Given the description of an element on the screen output the (x, y) to click on. 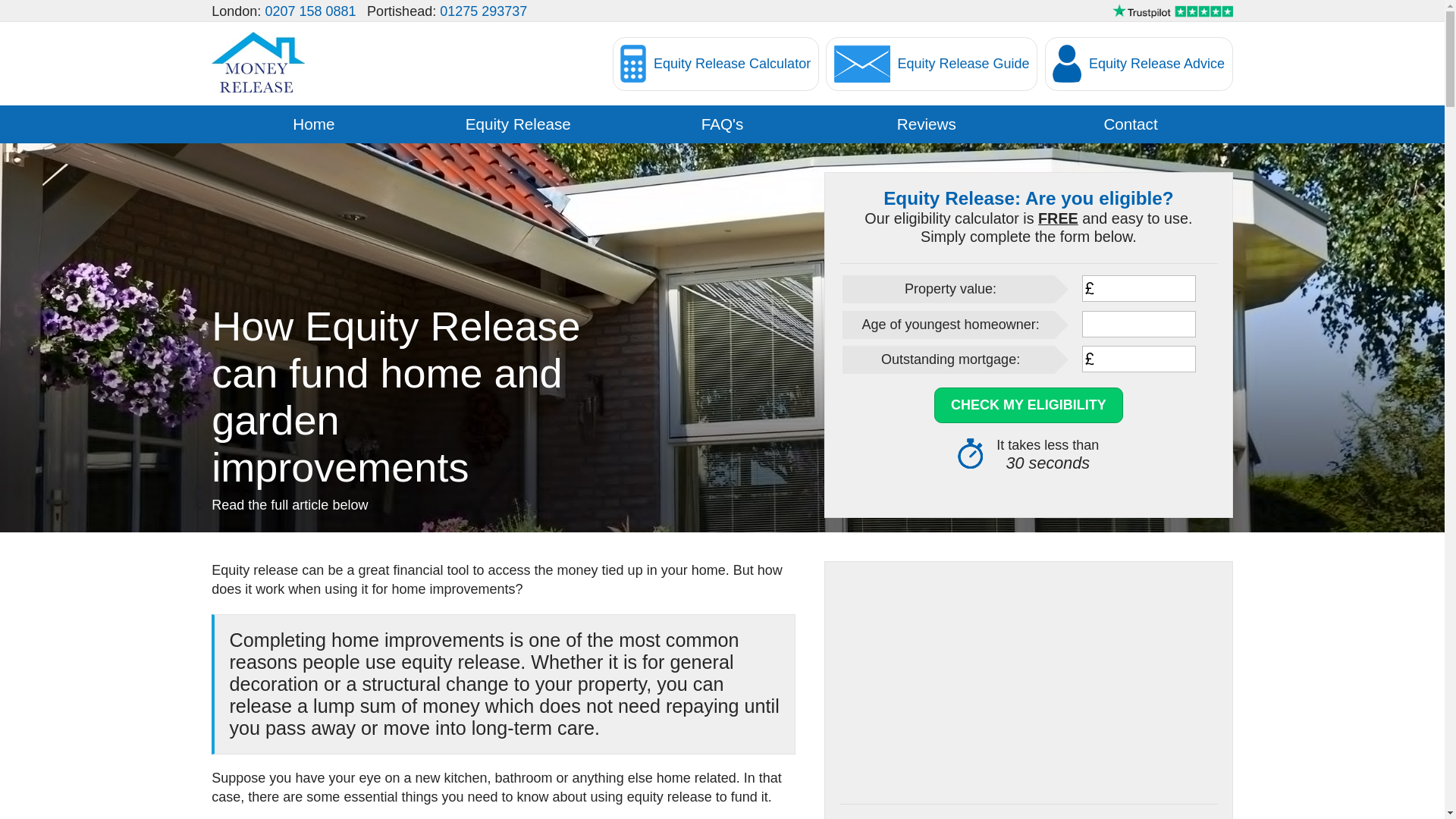
Equity Release Guide (930, 63)
Reviews (925, 124)
Go to the Money Releae home page (312, 124)
Equity Release frequently asked questions (722, 124)
See our latest reviews (1171, 13)
0207 158 0881 (309, 11)
CHECK MY ELIGIBILITY (1028, 405)
Contact (1129, 124)
FAQ's (722, 124)
Equity Release Advice (1139, 63)
